Given the description of an element on the screen output the (x, y) to click on. 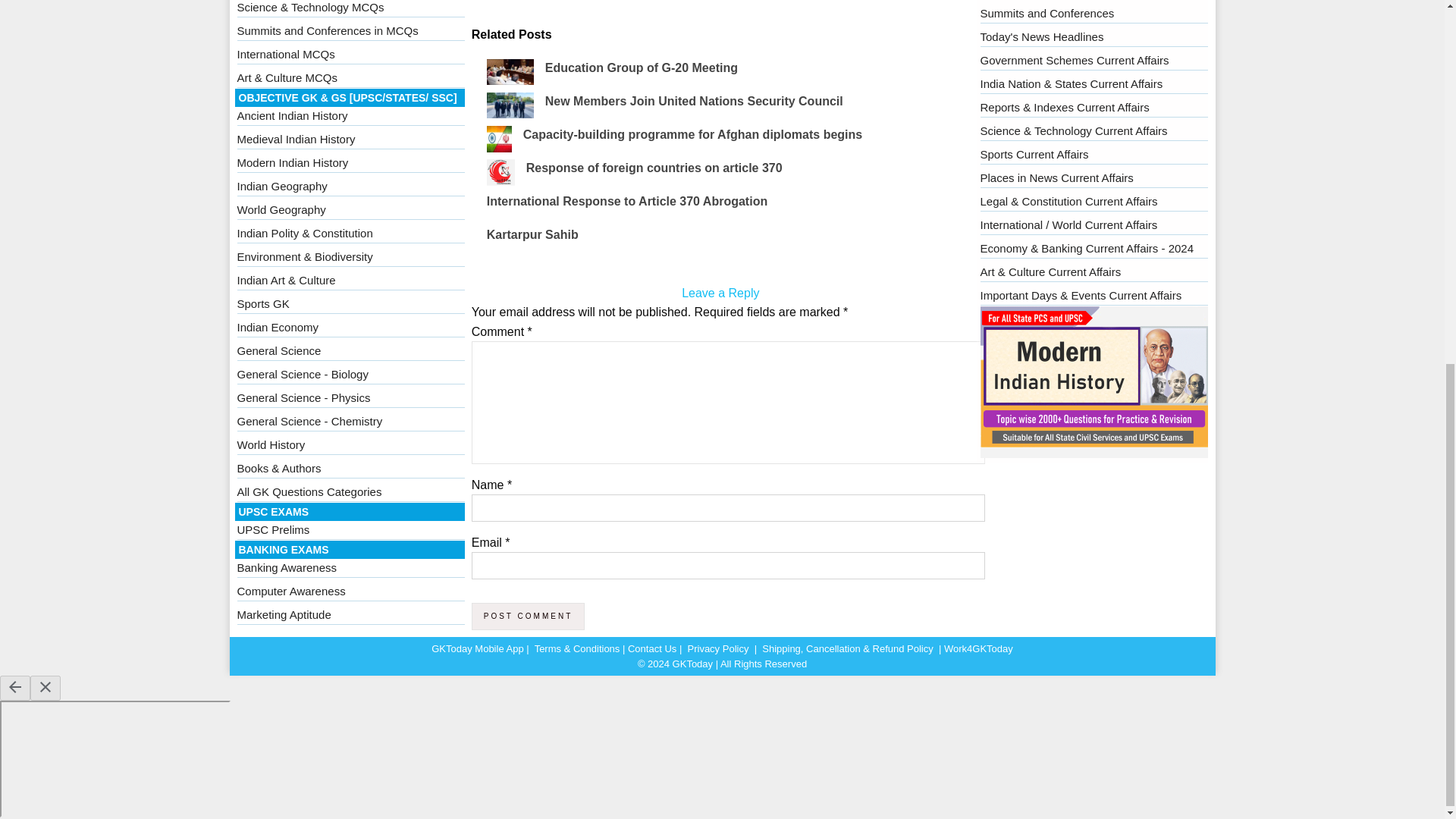
Kartarpur Sahib (532, 234)
Capacity-building programme for Afghan diplomats begins (691, 133)
New Members Join United Nations Security Council (693, 101)
International Response to Article 370 Abrogation (626, 201)
Post Comment (528, 615)
Education Group of G-20 Meeting (641, 67)
International Response to Article 370 Abrogation (626, 201)
Response of foreign countries on article 370 (654, 167)
Education Group of G-20 Meeting (641, 67)
Advertisement (720, 12)
Post Comment (528, 615)
New Members Join United Nations Security Council (693, 101)
Kartarpur Sahib (532, 234)
Response of foreign countries on article 370 (654, 167)
Capacity-building programme for Afghan diplomats begins (691, 133)
